Given the description of an element on the screen output the (x, y) to click on. 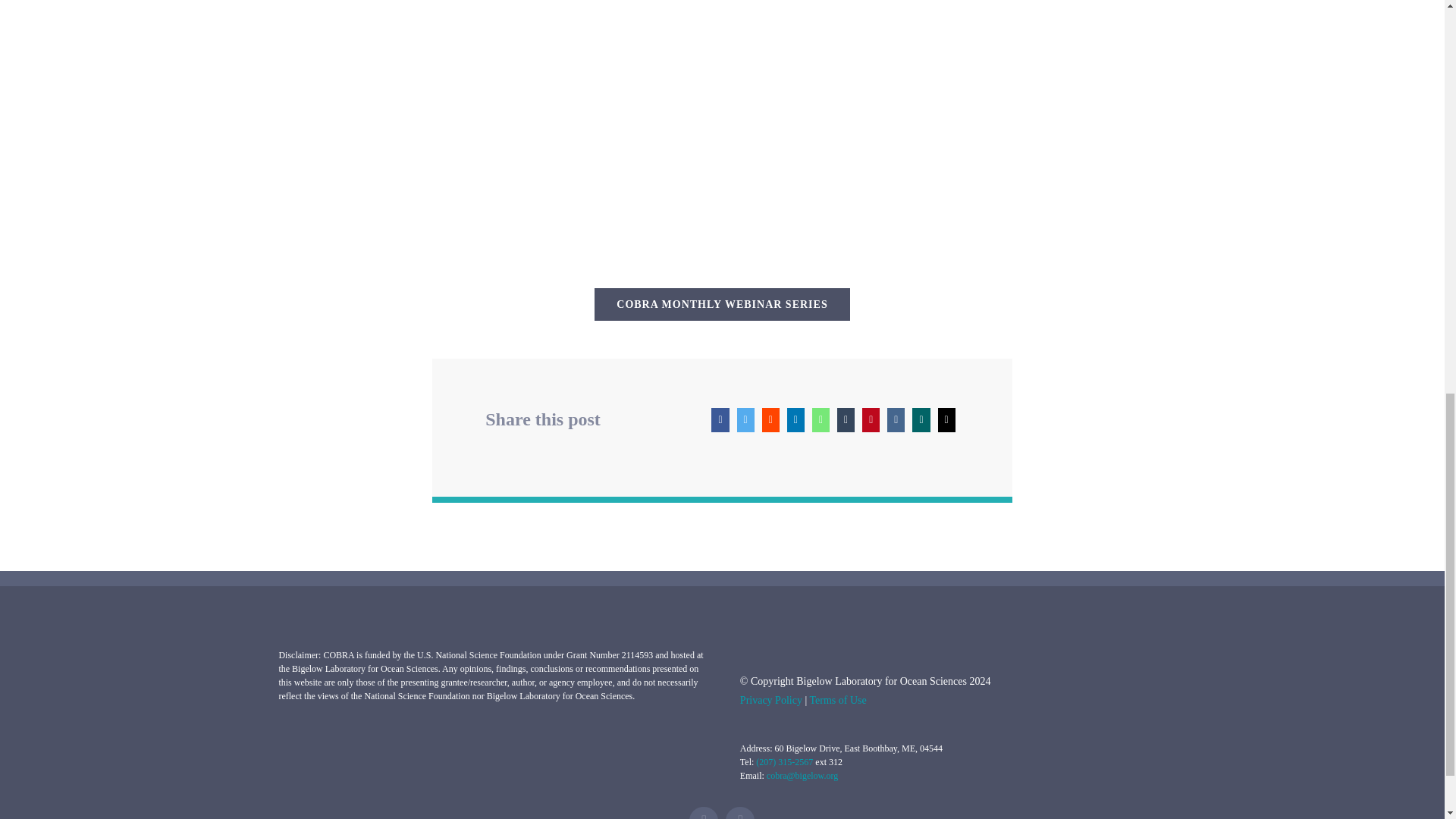
YouTube (739, 812)
Xing (920, 419)
Facebook (719, 419)
Privacy Policy (770, 699)
COBRA MONTHLY WEBINAR SERIES (721, 304)
WhatsApp (820, 419)
Bigelow-logo-White (853, 655)
Tumblr (845, 419)
Email (946, 419)
Terms of Use (837, 699)
YouTube video player 1 (722, 121)
Pinterest (871, 419)
Reddit (770, 419)
Twitter (702, 812)
Twitter (745, 419)
